Given the description of an element on the screen output the (x, y) to click on. 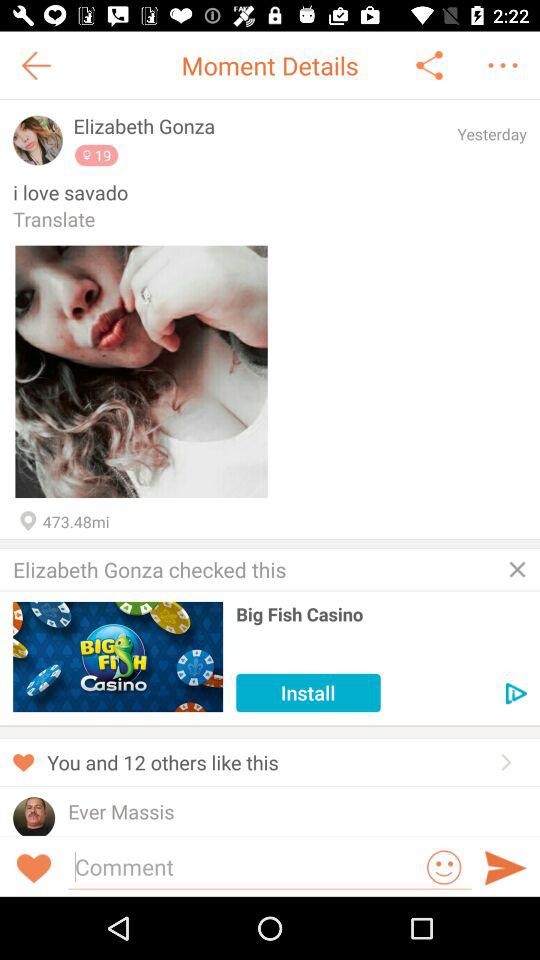
flip to the big fish casino icon (381, 613)
